Given the description of an element on the screen output the (x, y) to click on. 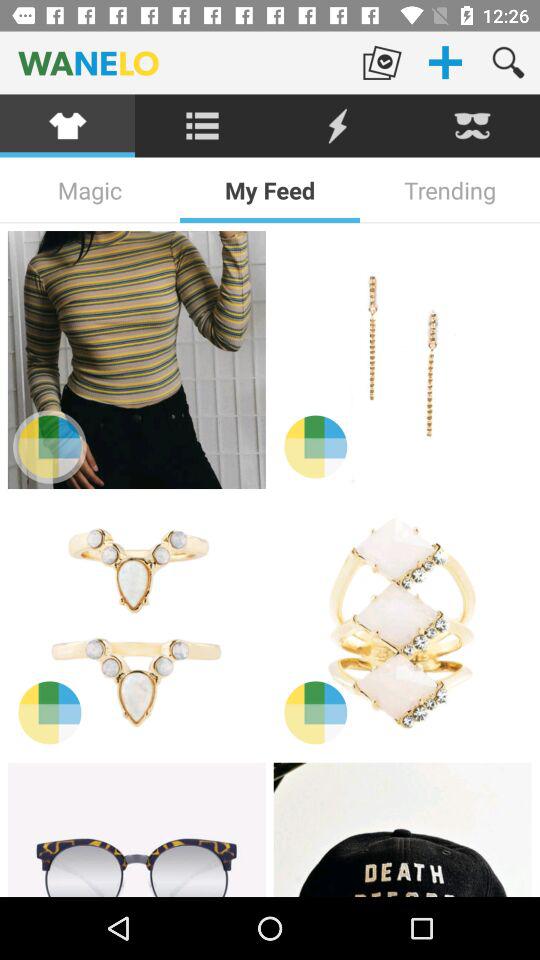
aerring (402, 360)
